Given the description of an element on the screen output the (x, y) to click on. 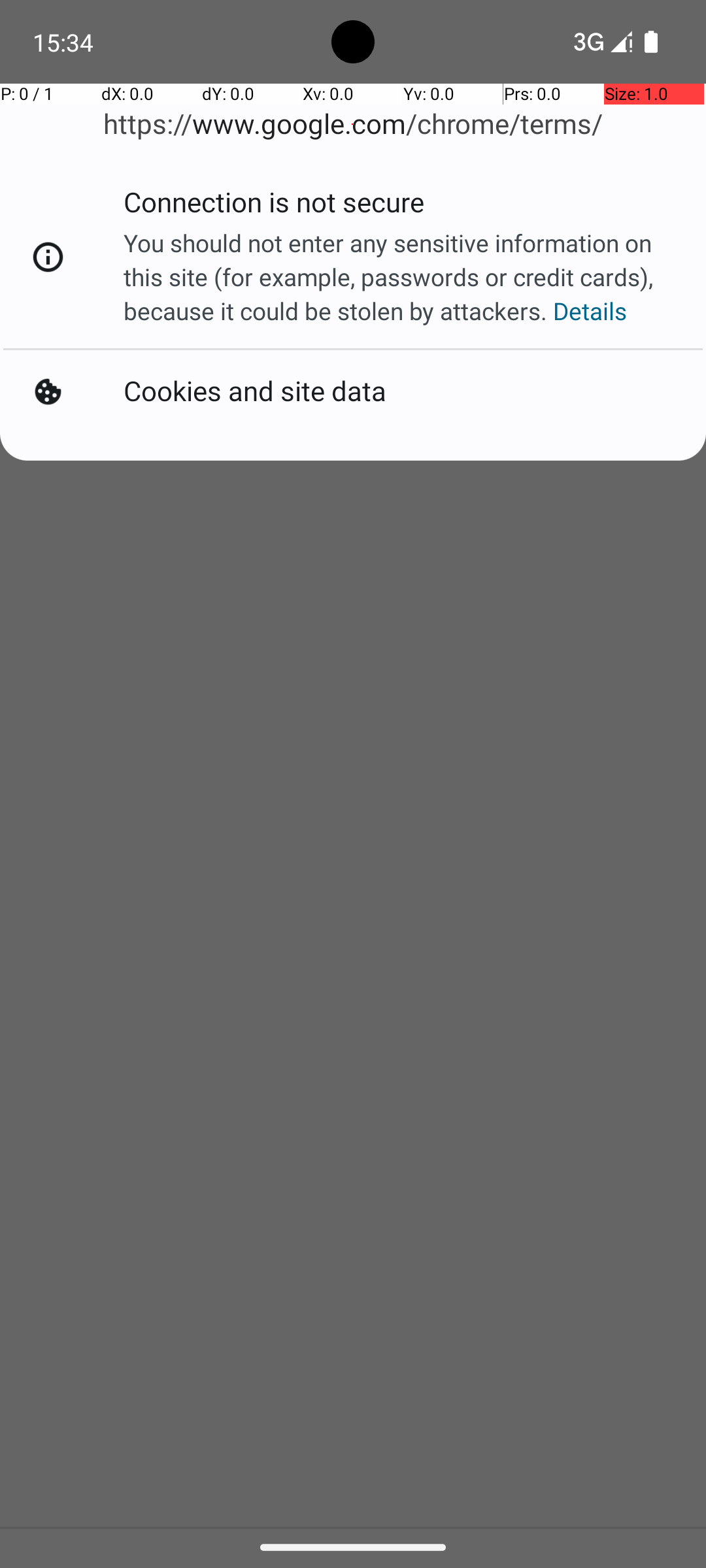
https://www.google.com/chrome/terms/ Element type: android.widget.TextView (352, 124)
Connection is not secure Element type: android.widget.TextView (273, 206)
You should not enter any sensitive information on this site (for example, passwords or credit cards), because it could be stolen by attackers. Details Element type: android.widget.TextView (400, 276)
Cookies and site data Element type: android.widget.TextView (254, 391)
